Given the description of an element on the screen output the (x, y) to click on. 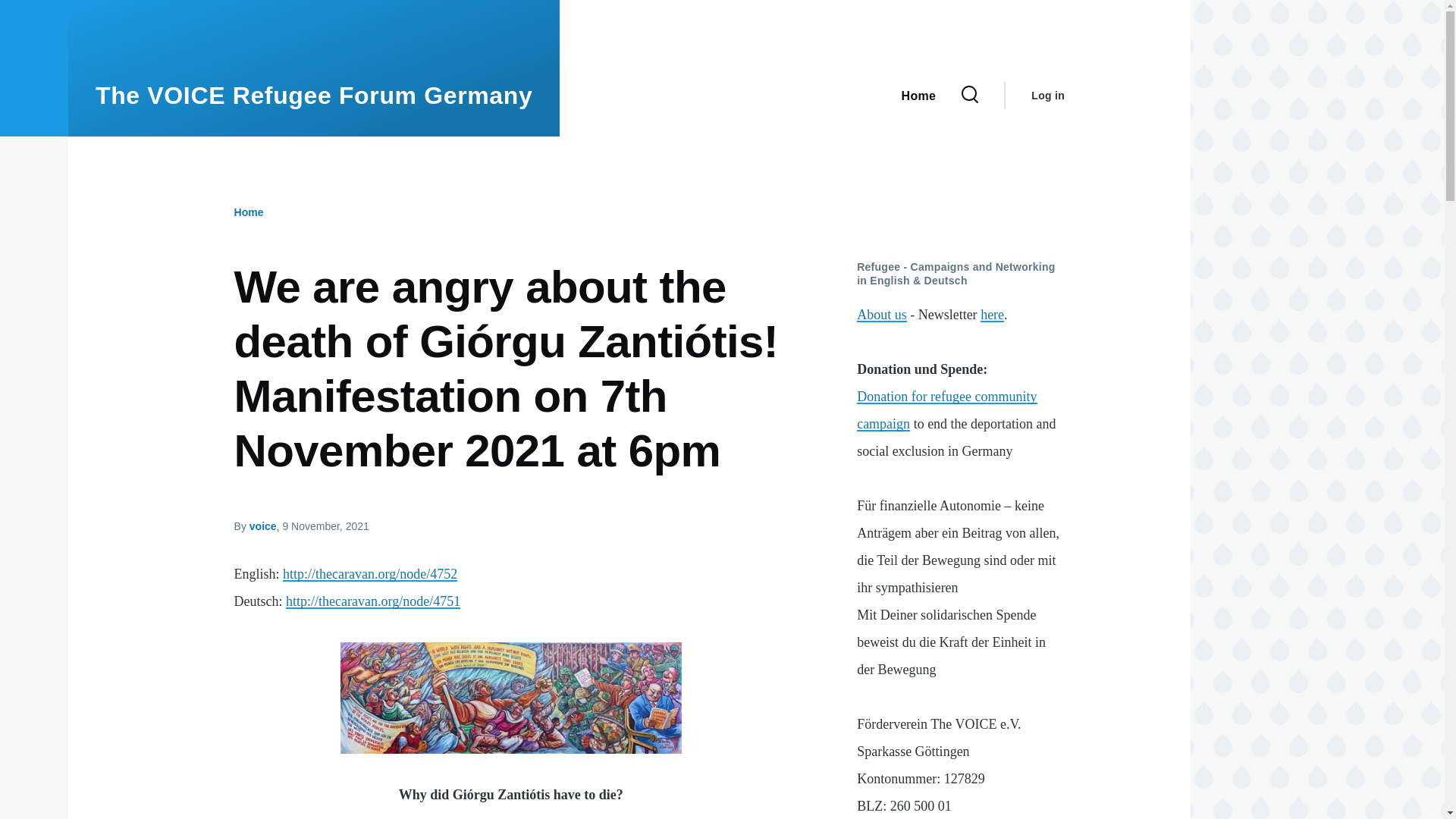
Skip to main content (595, 6)
Donation for refugee community campaign (946, 410)
here (991, 314)
The VOICE Refugee Forum Germany (314, 94)
voice (262, 526)
About us (882, 314)
Log in (1047, 94)
Home (314, 94)
Home (248, 212)
